Given the description of an element on the screen output the (x, y) to click on. 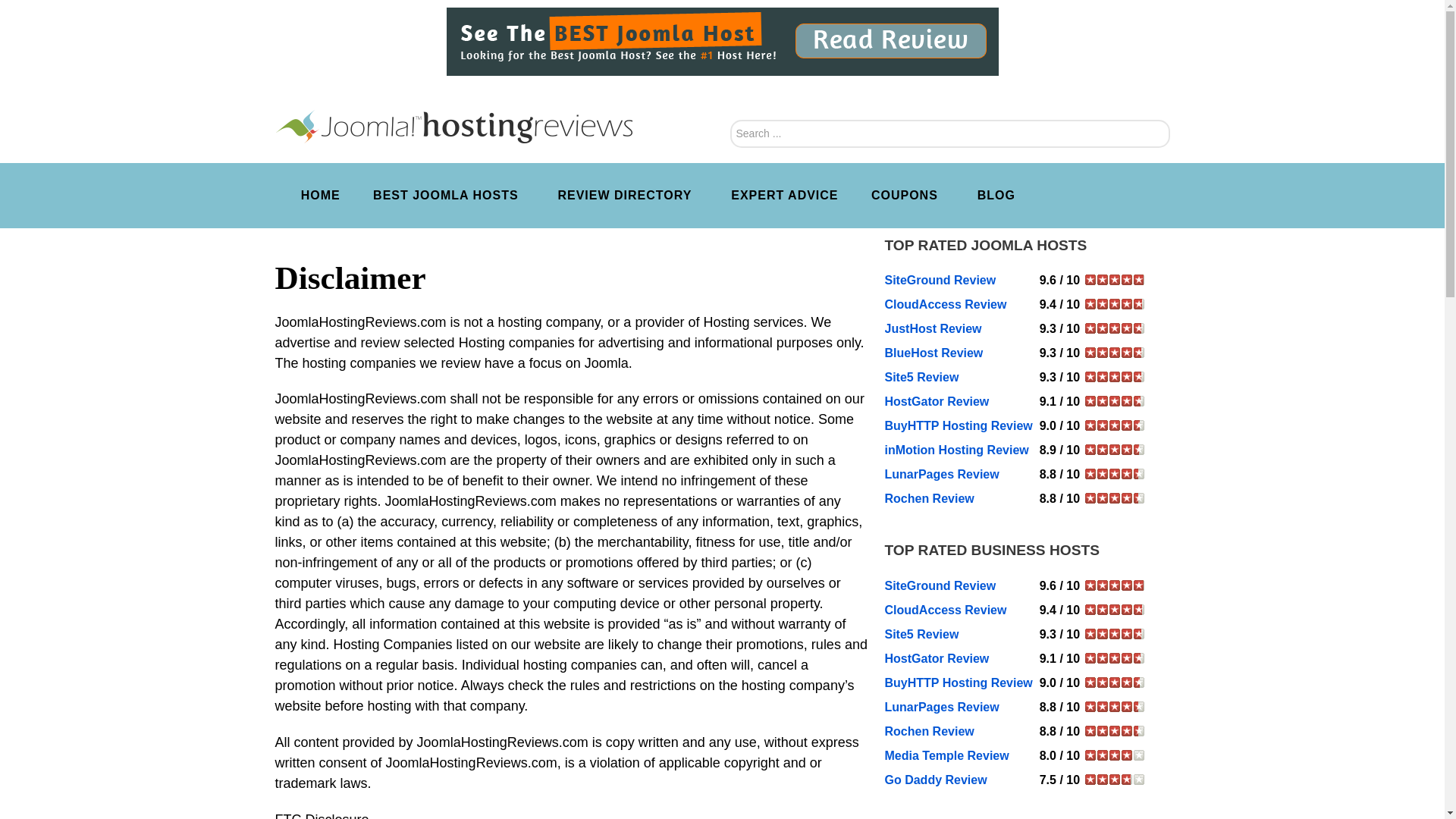
Best Joomla Host (721, 40)
HOME (320, 195)
BEST JOOMLA HOSTS (448, 195)
REVIEW DIRECTORY (627, 195)
